Given the description of an element on the screen output the (x, y) to click on. 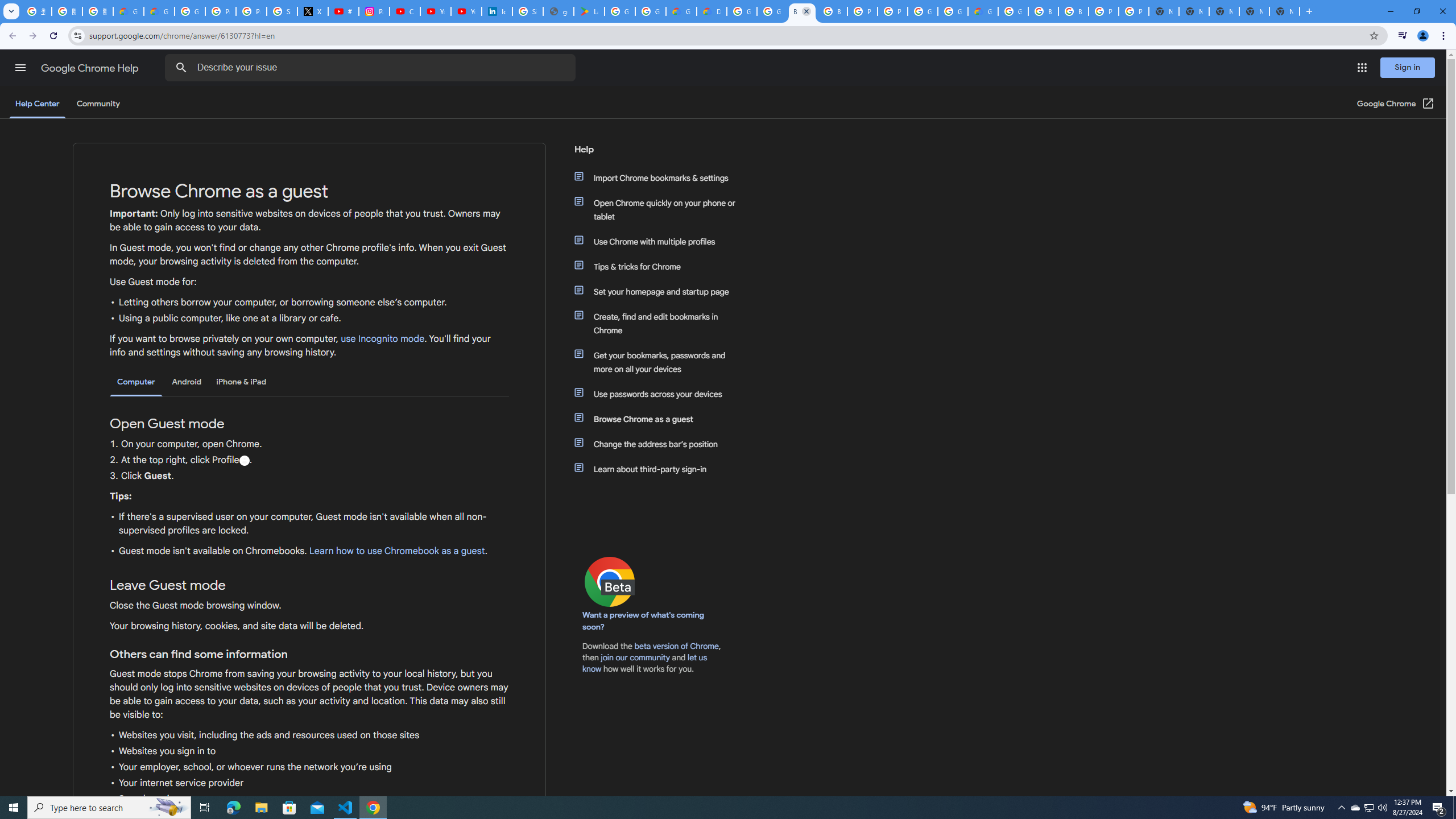
Google Cloud Platform (1012, 11)
Computer (136, 382)
Browse Chrome as a guest - Computer - Google Chrome Help (1042, 11)
Google Chrome Help (90, 68)
Privacy Help Center - Policies Help (220, 11)
Browse Chrome as a guest - Computer - Google Chrome Help (1072, 11)
Use Chrome with multiple profiles (661, 241)
join our community (634, 657)
Chrome Beta logo (609, 581)
